Given the description of an element on the screen output the (x, y) to click on. 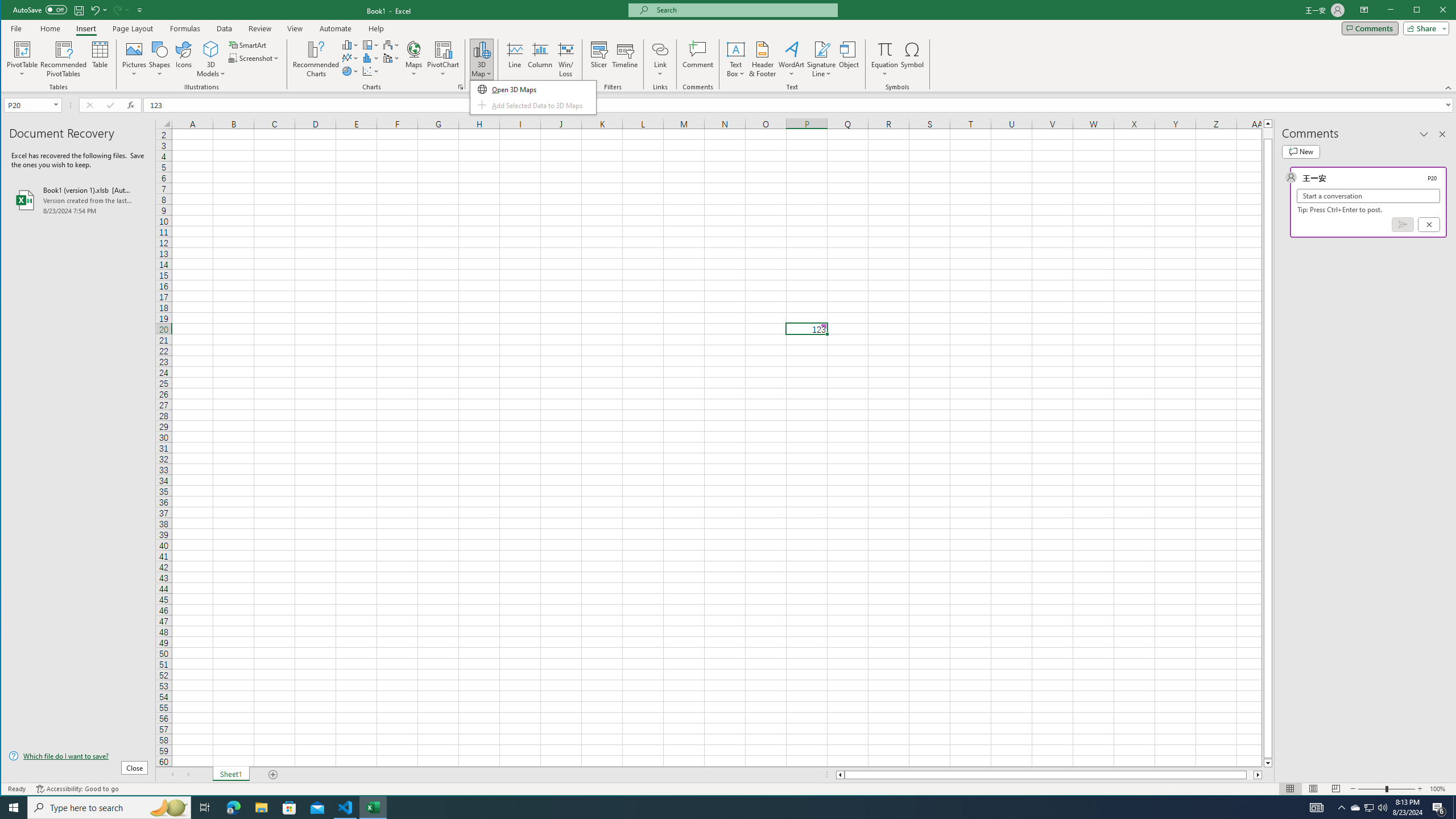
Show desktop (1454, 807)
Symbol... (1368, 807)
Slicer... (912, 59)
3D Models (598, 59)
Equation (211, 48)
Type here to search (884, 59)
Insert Combo Chart (108, 807)
Insert Waterfall, Funnel, Stock, Surface, or Radar Chart (391, 57)
Recommended PivotTables (391, 44)
